Given the description of an element on the screen output the (x, y) to click on. 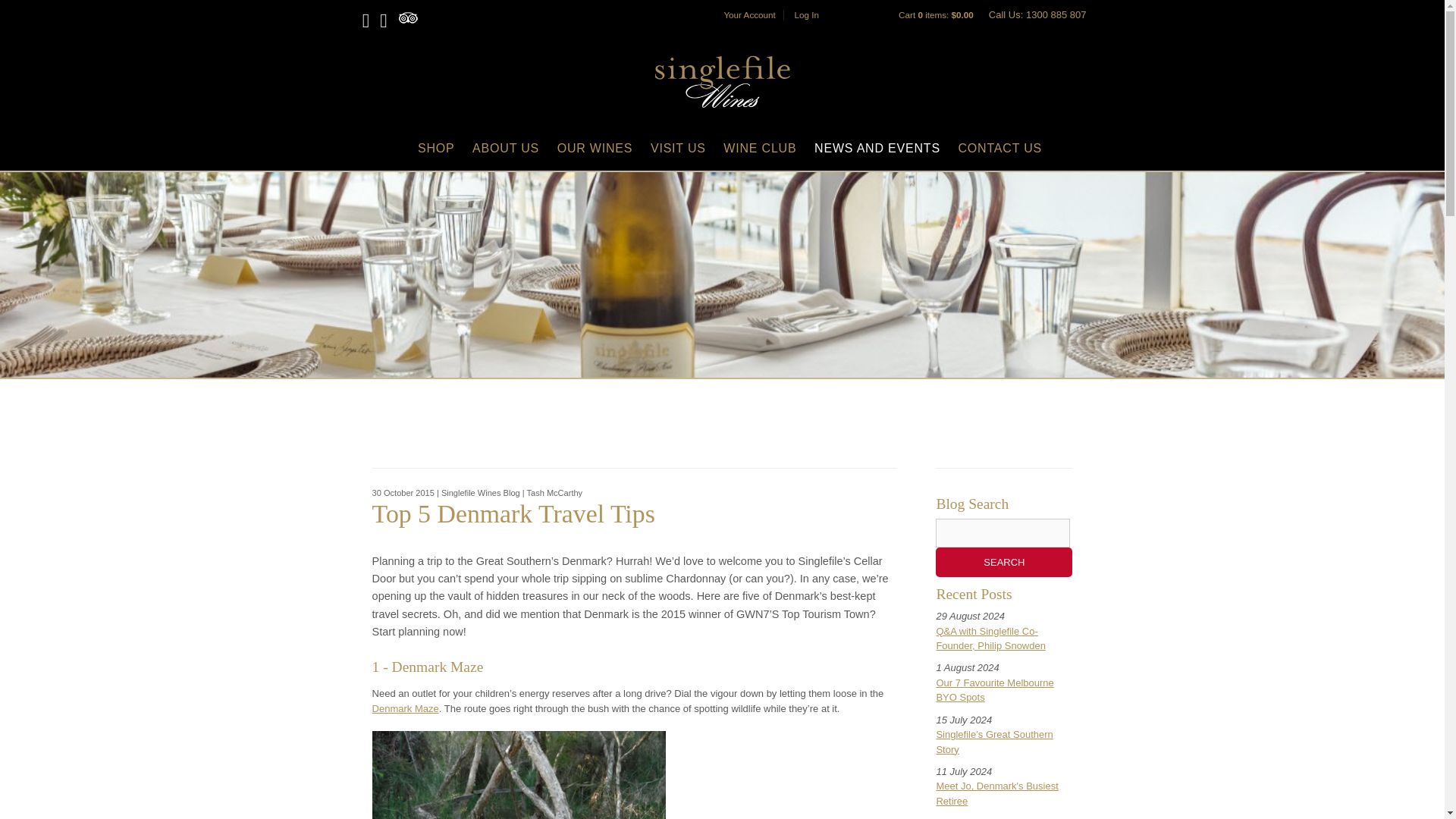
SHOP (435, 148)
ABOUT US (504, 148)
Singlefile Wines (721, 81)
VISIT US (678, 148)
Log In (805, 14)
OUR WINES (595, 148)
Your Account (748, 14)
